Given the description of an element on the screen output the (x, y) to click on. 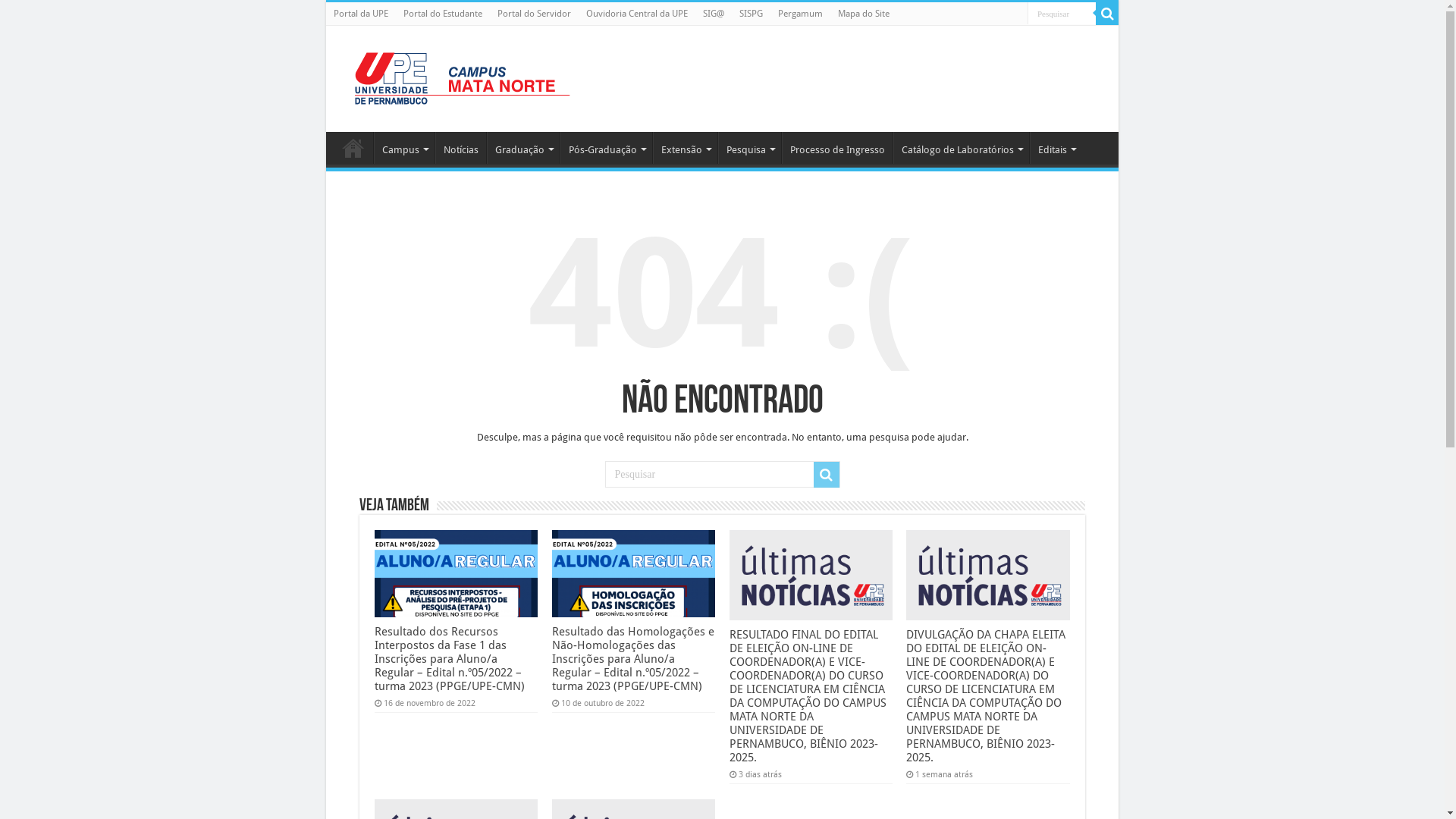
Pergamum Element type: text (800, 13)
Campus Element type: text (403, 147)
SISPG Element type: text (750, 13)
Processo de Ingresso Element type: text (836, 147)
Portal do Estudante Element type: text (442, 13)
Mapa do Site Element type: text (863, 13)
Pesquisar Element type: hover (1061, 13)
SIG@ Element type: text (713, 13)
Portal do Servidor Element type: text (533, 13)
Pesquisar Element type: text (825, 474)
Pesquisar Element type: text (1106, 13)
Portal da UPE Element type: text (360, 13)
Ouvidoria Central da UPE Element type: text (636, 13)
Editais Element type: text (1055, 147)
Pesquisa Element type: text (749, 147)
